Given the description of an element on the screen output the (x, y) to click on. 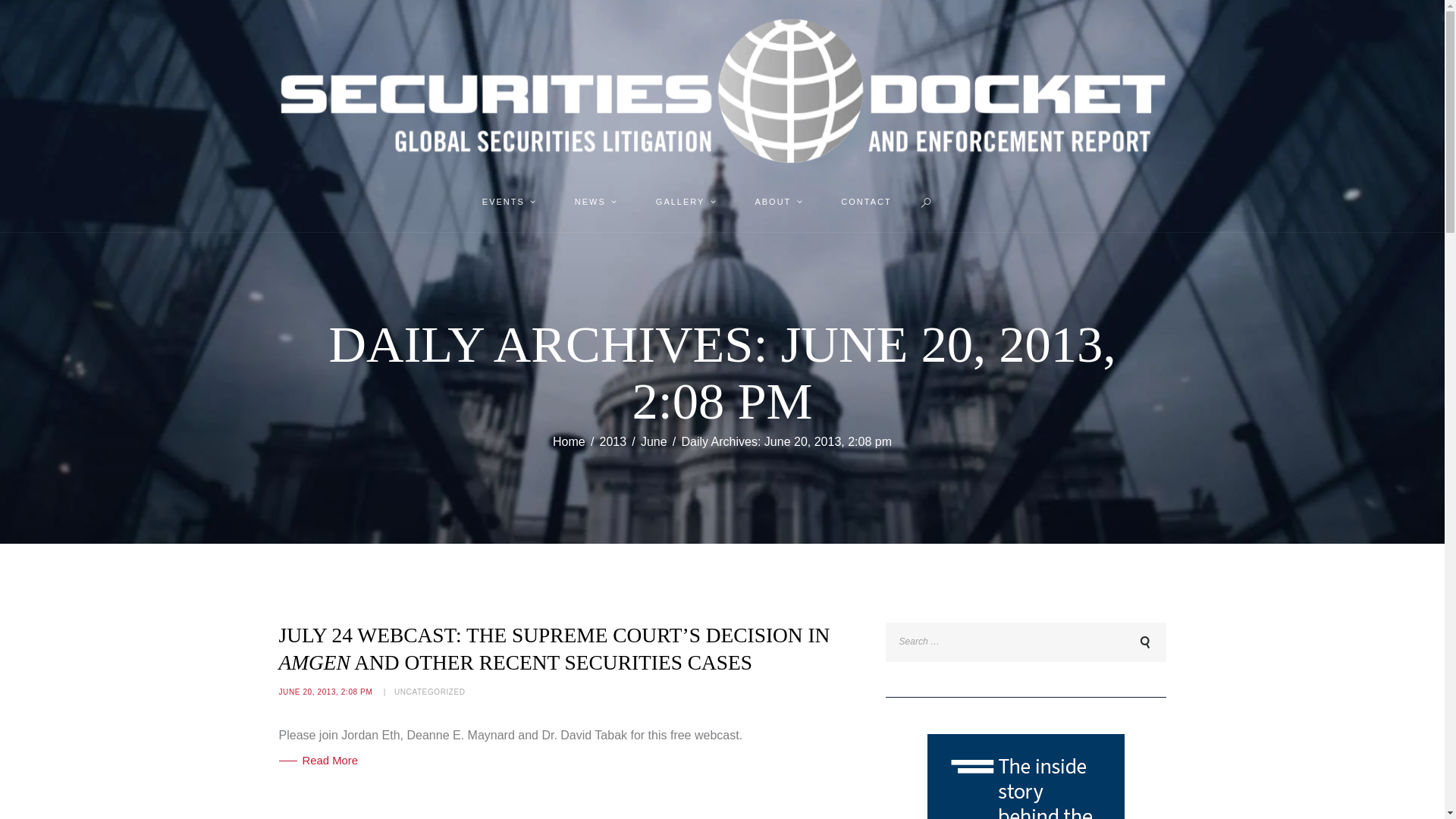
Search (1142, 642)
ABOUT (777, 202)
2013 (613, 441)
Home (569, 441)
EVENTS (507, 202)
CONTACT (866, 202)
Search (1142, 642)
June (653, 441)
NEWS (593, 202)
GALLERY (683, 202)
